Given the description of an element on the screen output the (x, y) to click on. 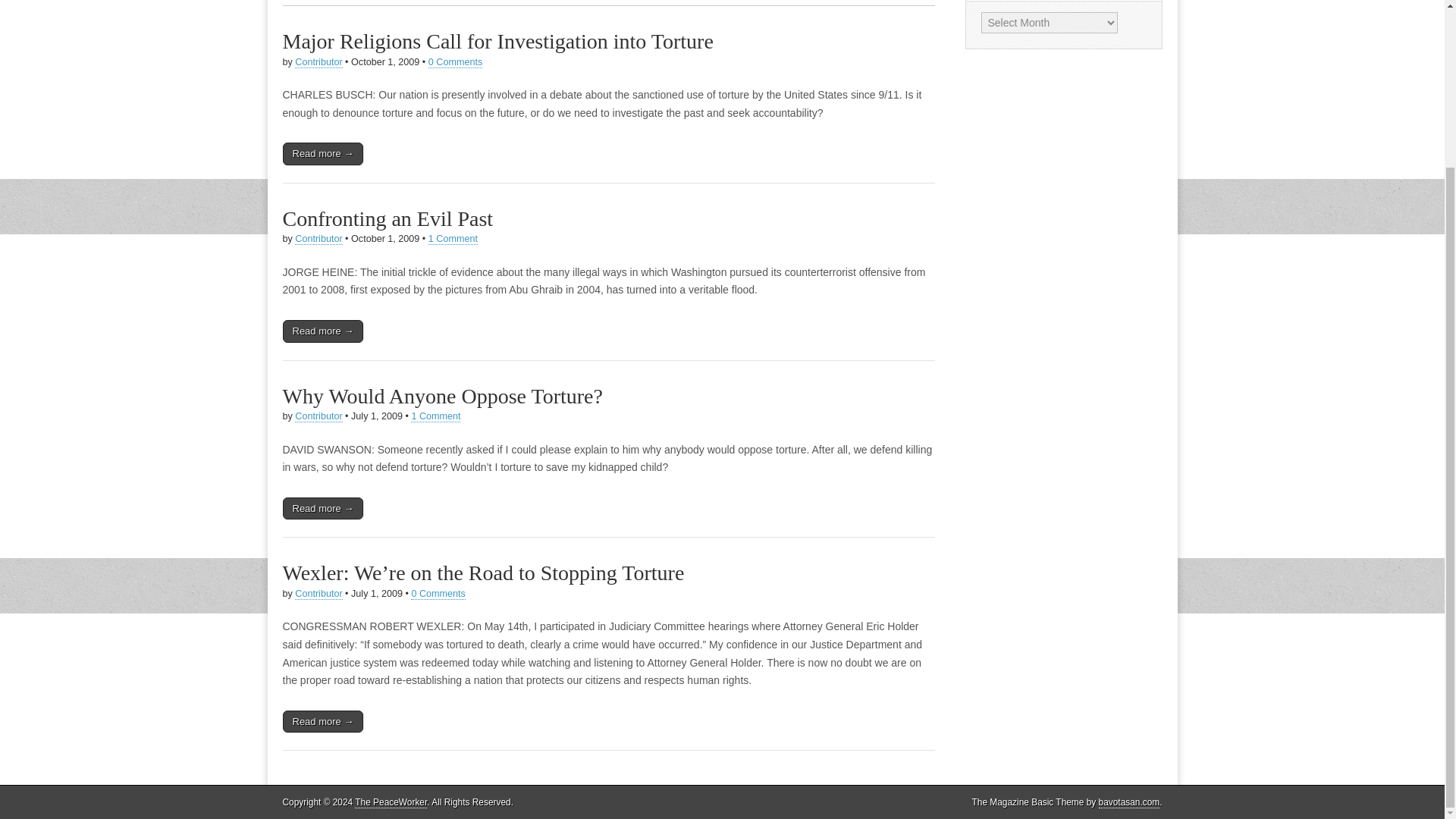
Contributor (318, 238)
0 Comments (454, 61)
Confronting an Evil Past (387, 218)
1 Comment (452, 238)
1 Comment (435, 416)
Posts by Contributor (318, 238)
Contributor (318, 416)
Contributor (318, 593)
Posts by Contributor (318, 61)
Major Religions Call for Investigation into Torture (497, 41)
Posts by Contributor (318, 416)
bavotasan.com (1129, 802)
0 Comments (437, 593)
The PeaceWorker (390, 802)
Contributor (318, 61)
